Given the description of an element on the screen output the (x, y) to click on. 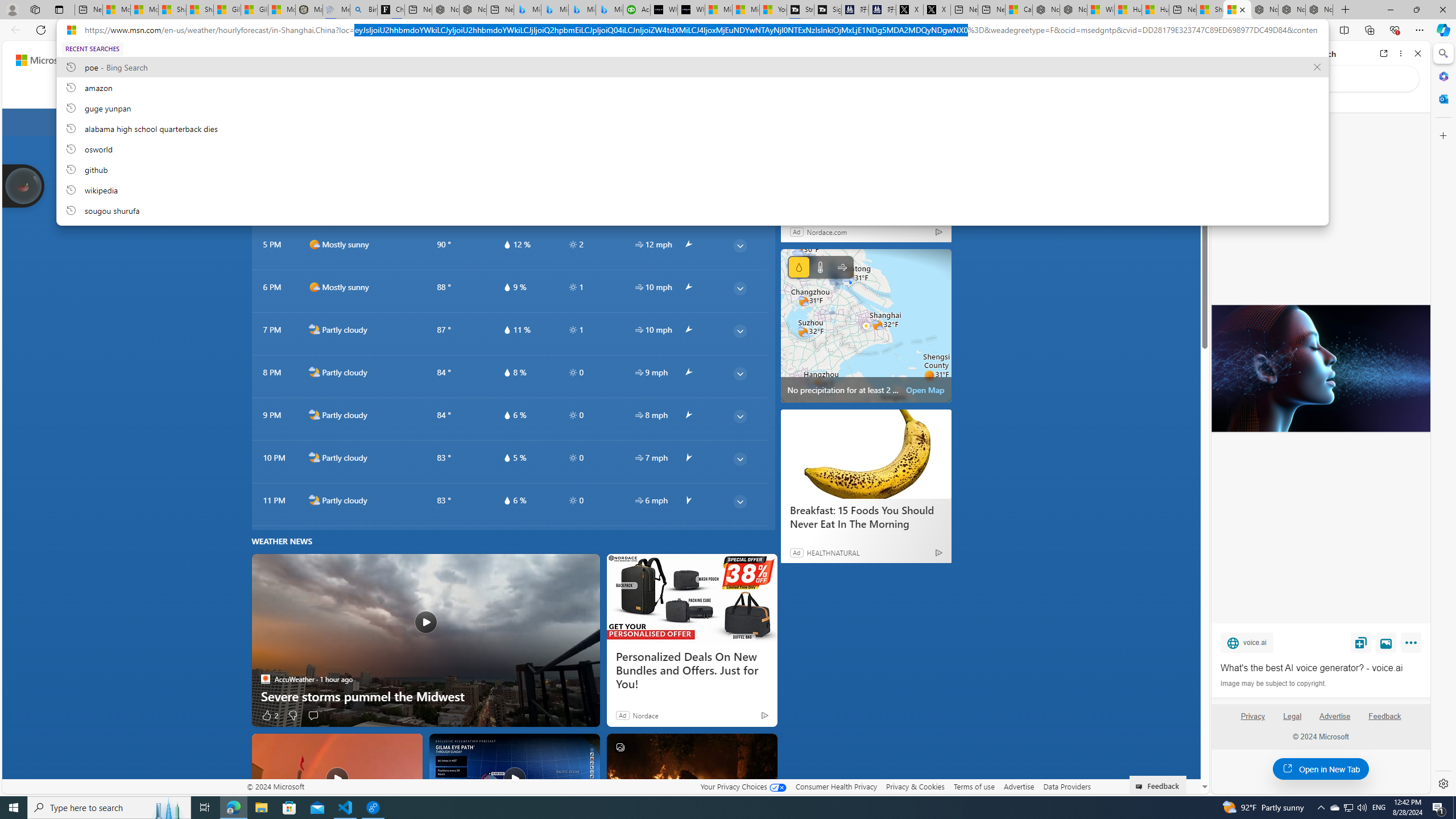
Forward (1242, 53)
Skip to content (49, 59)
Image may be subject to copyright. (1273, 682)
Shanghai, China hourly forecast | Microsoft Weather (1236, 9)
Settings (1442, 783)
What's the best AI voice generator? - voice.ai (1320, 368)
Fire information (697, 92)
Privacy (1252, 715)
What's the best AI voice generator? - voice.ai (1320, 667)
Privacy & Cookies (915, 785)
d2000 (314, 201)
